Given the description of an element on the screen output the (x, y) to click on. 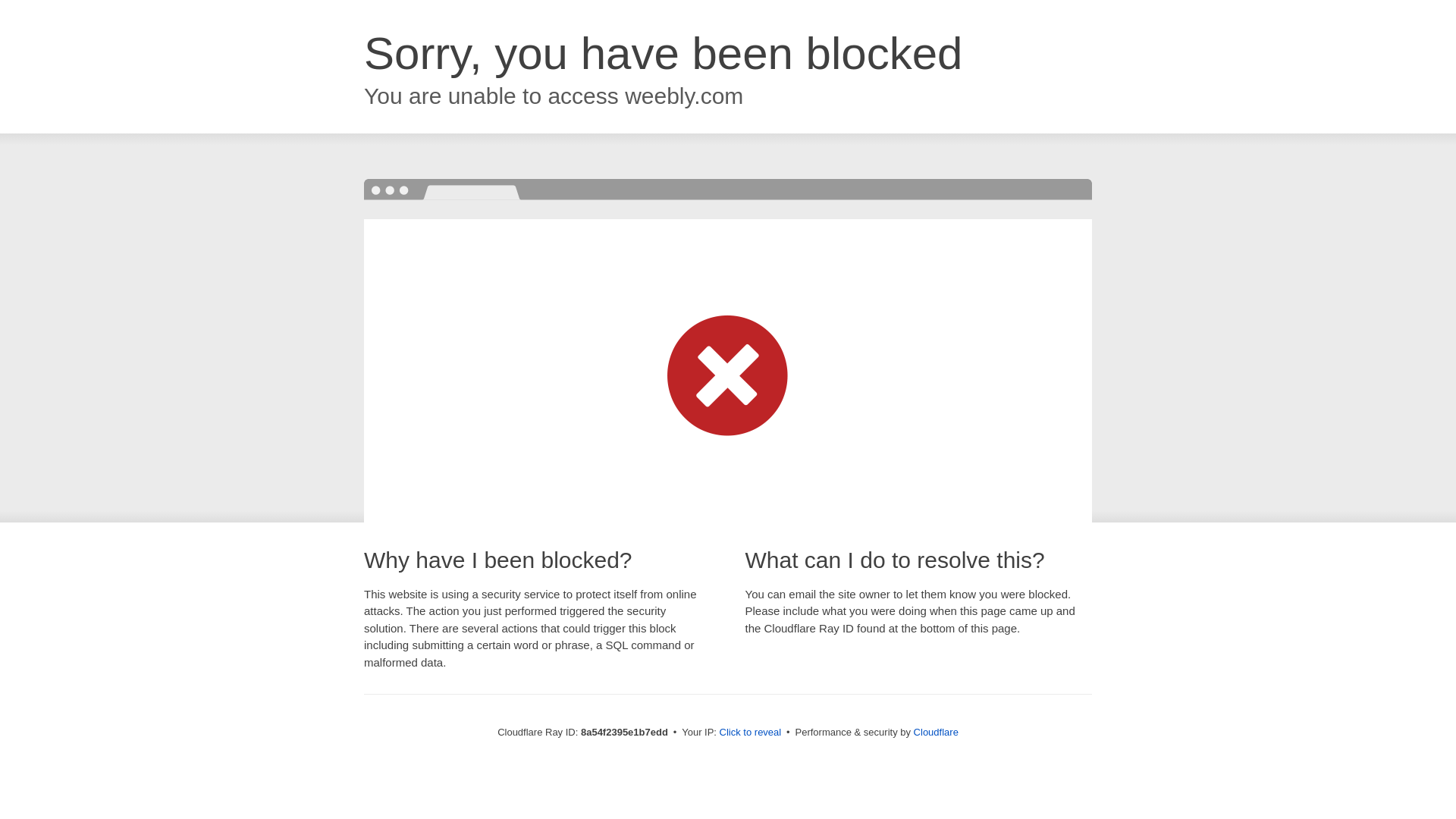
Cloudflare (936, 731)
Click to reveal (750, 732)
